Given the description of an element on the screen output the (x, y) to click on. 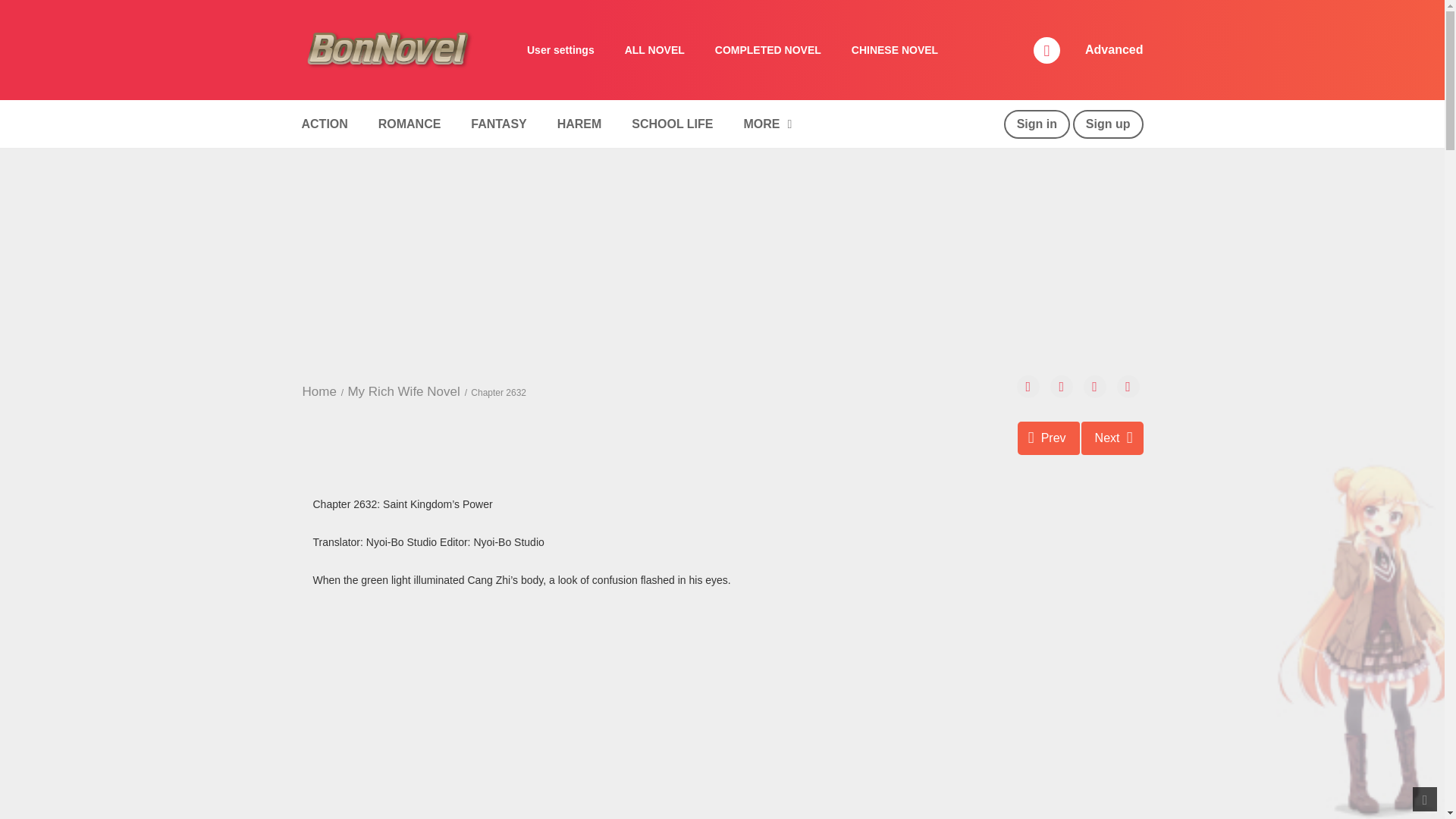
SCHOOL LIFE (671, 124)
FANTASY (498, 124)
COMPLETED NOVEL (767, 49)
ALL NOVEL (655, 49)
Chapter 2631 (1048, 438)
ACTION (323, 124)
ROMANCE (409, 124)
Search (970, 9)
